Given the description of an element on the screen output the (x, y) to click on. 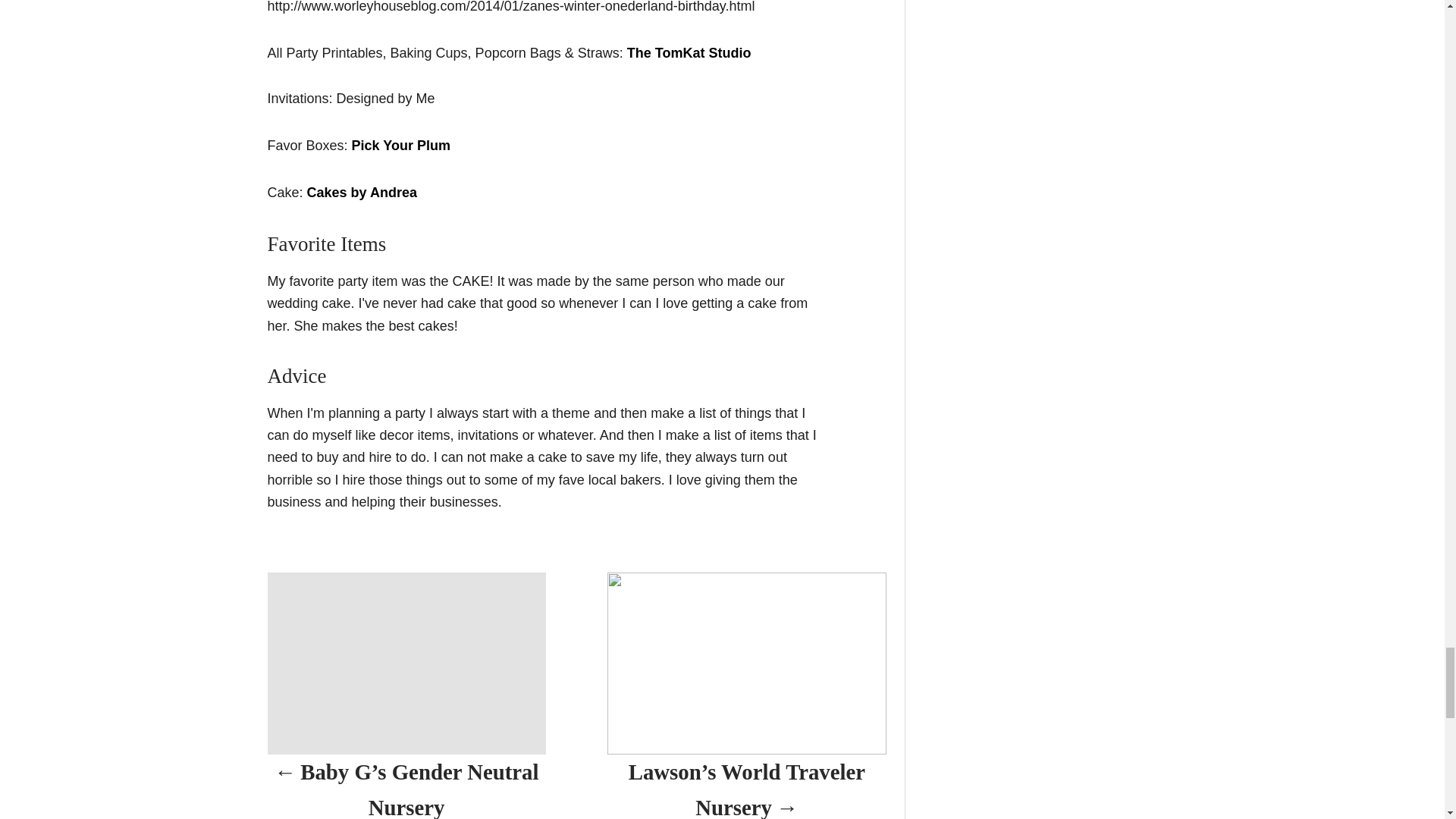
Pick Your Plum (400, 145)
The TomKat Studio  (689, 52)
Cakes by Andrea (363, 192)
